Given the description of an element on the screen output the (x, y) to click on. 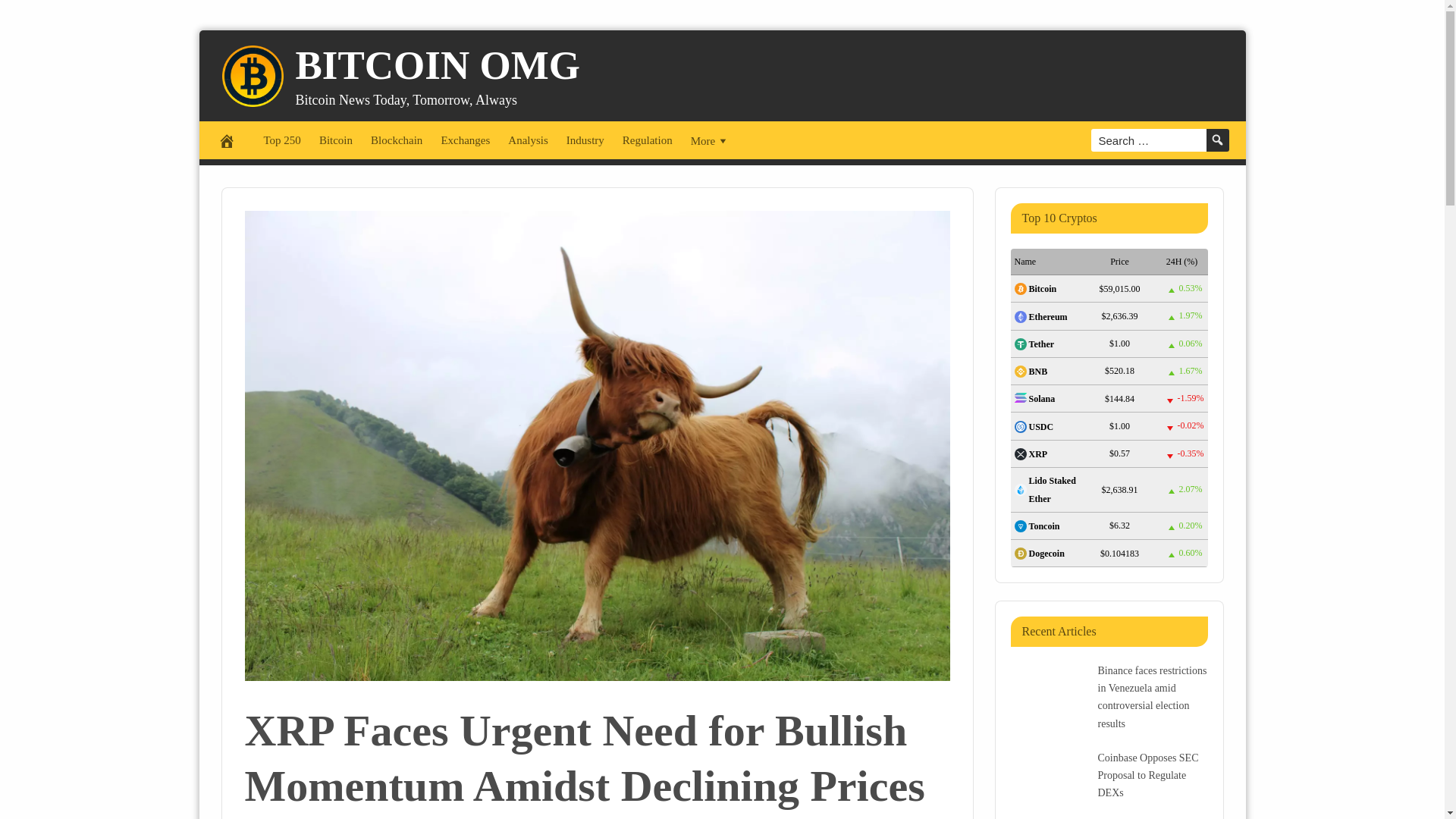
Top 250 (282, 139)
BITCOIN OMG (437, 64)
Exchanges (464, 139)
Industry (584, 139)
More (710, 139)
Regulation (646, 139)
Bitcoin (335, 139)
Analysis (528, 139)
